Given the description of an element on the screen output the (x, y) to click on. 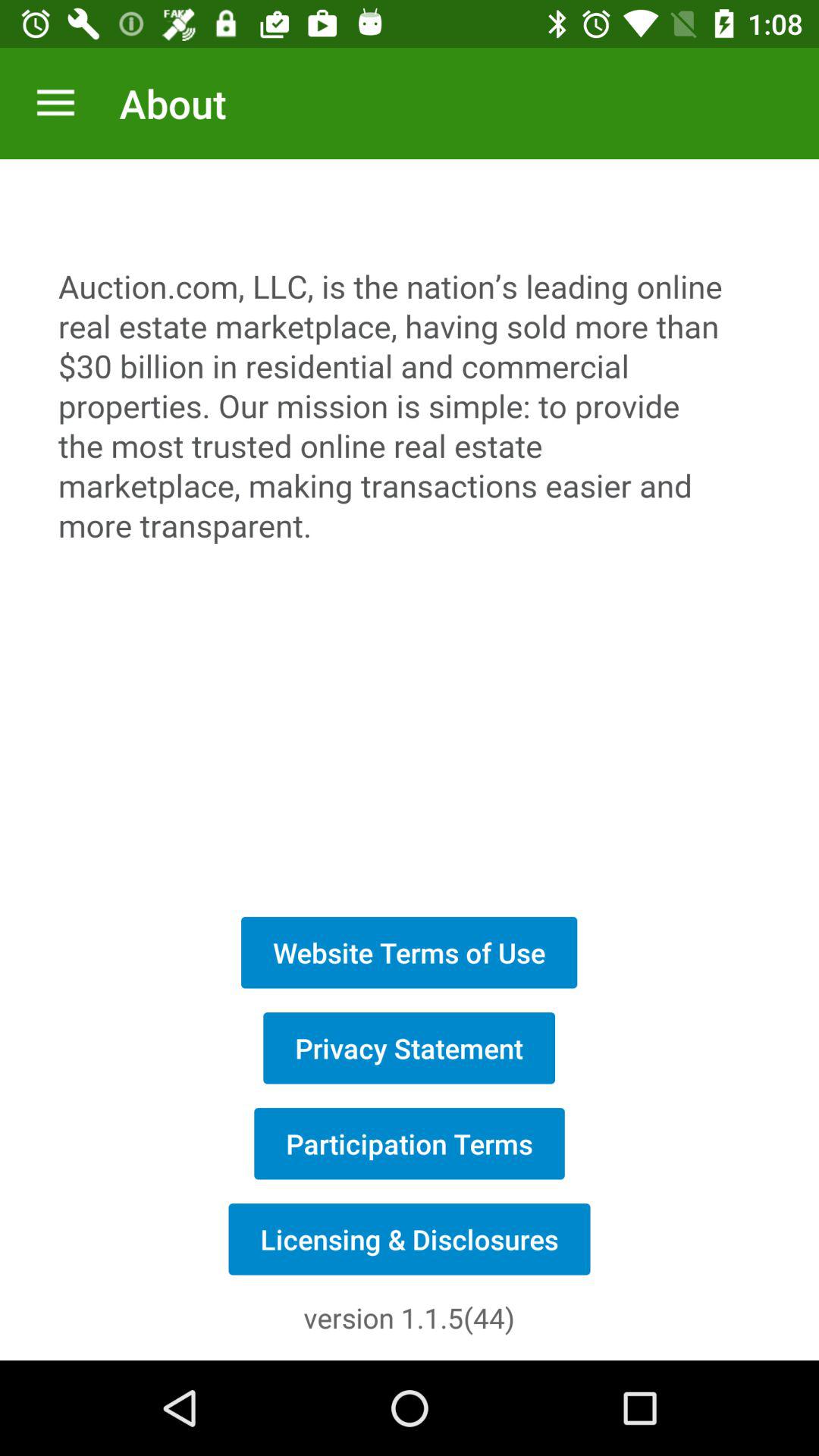
advertisement page (409, 529)
